Given the description of an element on the screen output the (x, y) to click on. 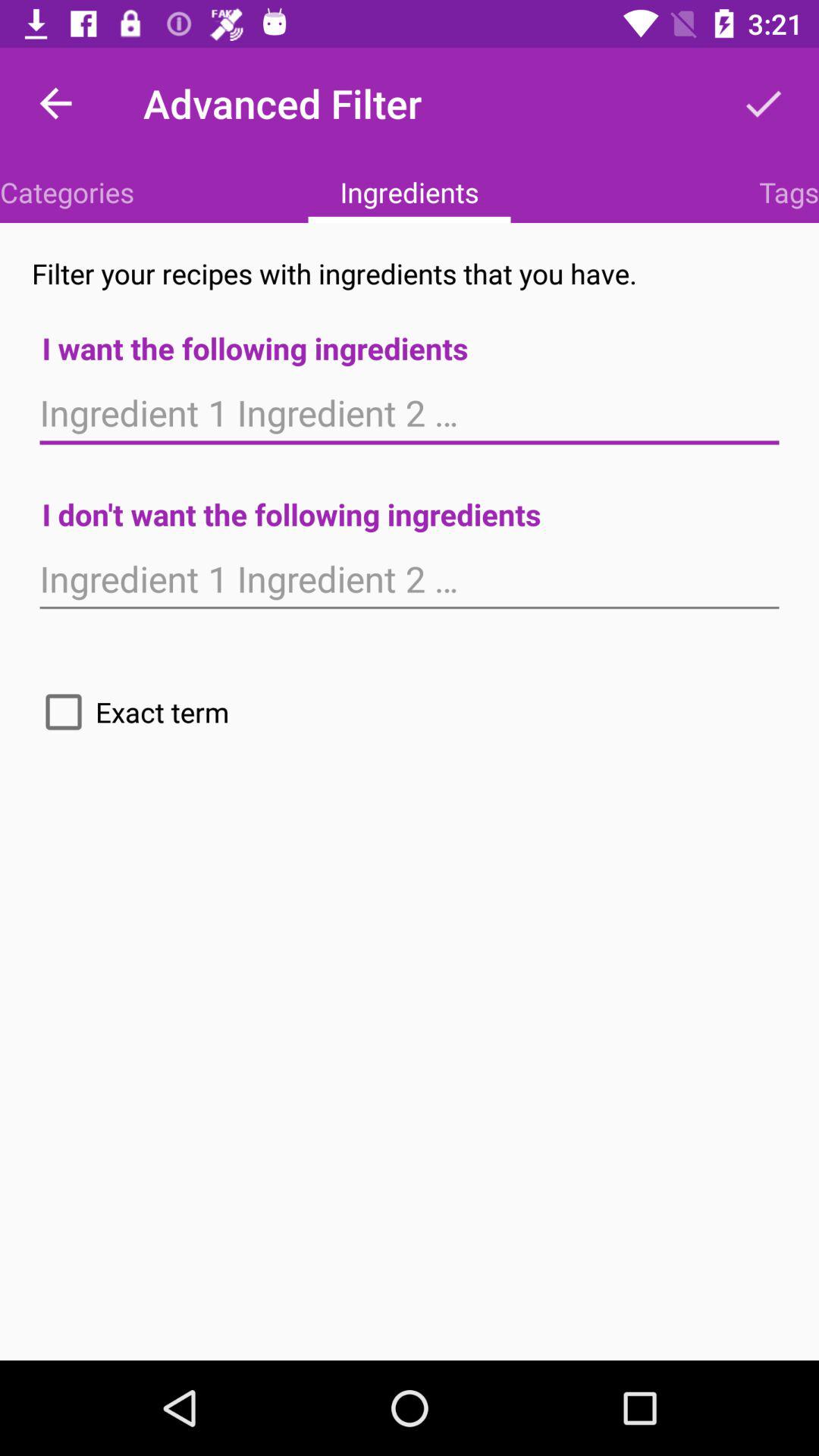
tap icon to the left of the ingredients icon (67, 192)
